Given the description of an element on the screen output the (x, y) to click on. 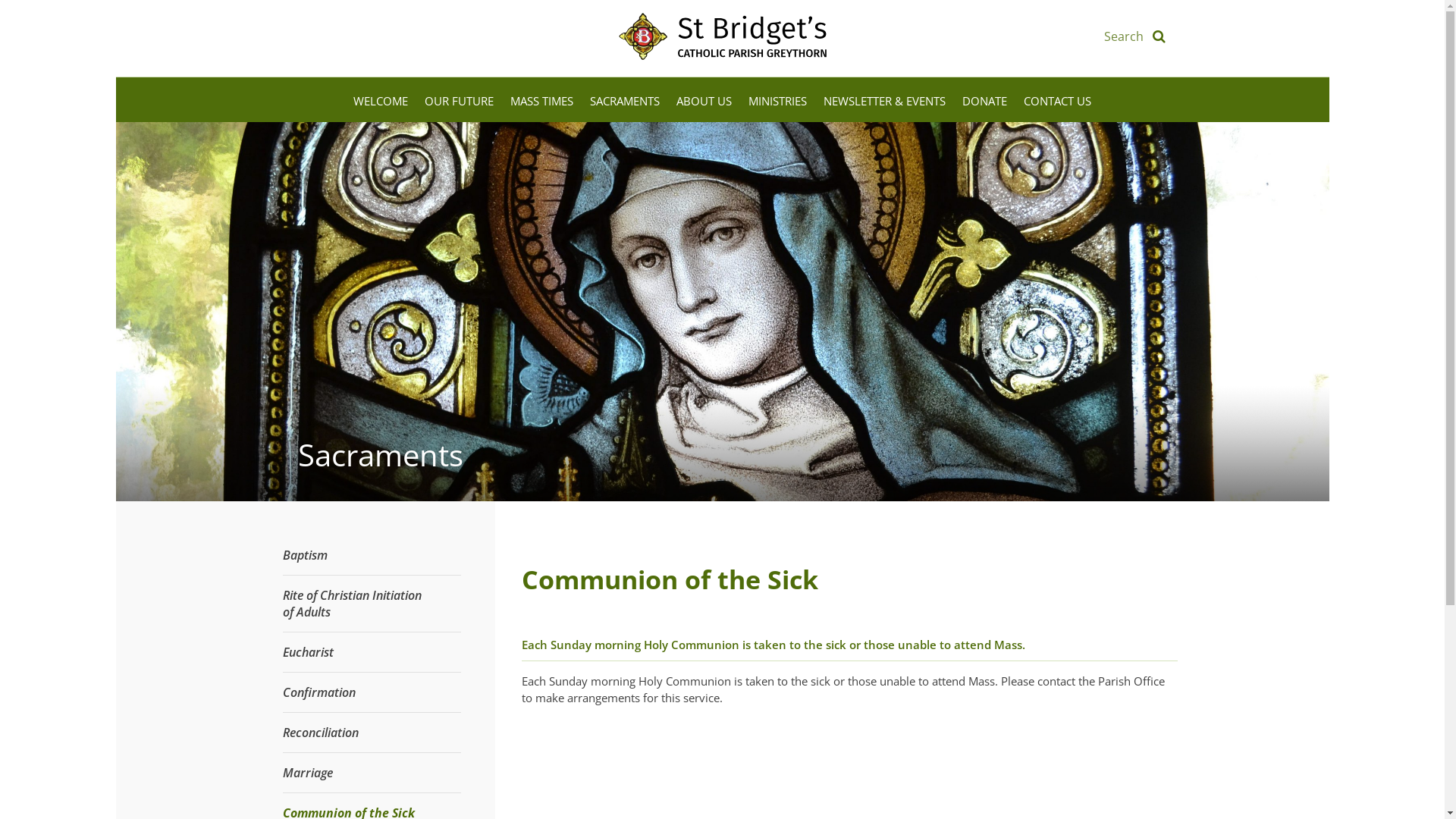
Marriage Element type: text (307, 772)
Reconciliation Element type: text (319, 732)
WELCOME Element type: text (380, 99)
CONTACT US Element type: text (1057, 99)
OUR FUTURE Element type: text (458, 99)
Confirmation Element type: text (318, 692)
Eucharist Element type: text (307, 651)
Baptism Element type: text (304, 554)
MASS TIMES Element type: text (541, 99)
DONATE Element type: text (984, 99)
ABOUT US Element type: text (703, 99)
SACRAMENTS Element type: text (624, 99)
NEWSLETTER & EVENTS Element type: text (884, 99)
Rite of Christian Initiation of Adults Element type: text (351, 603)
MINISTRIES Element type: text (777, 99)
